Given the description of an element on the screen output the (x, y) to click on. 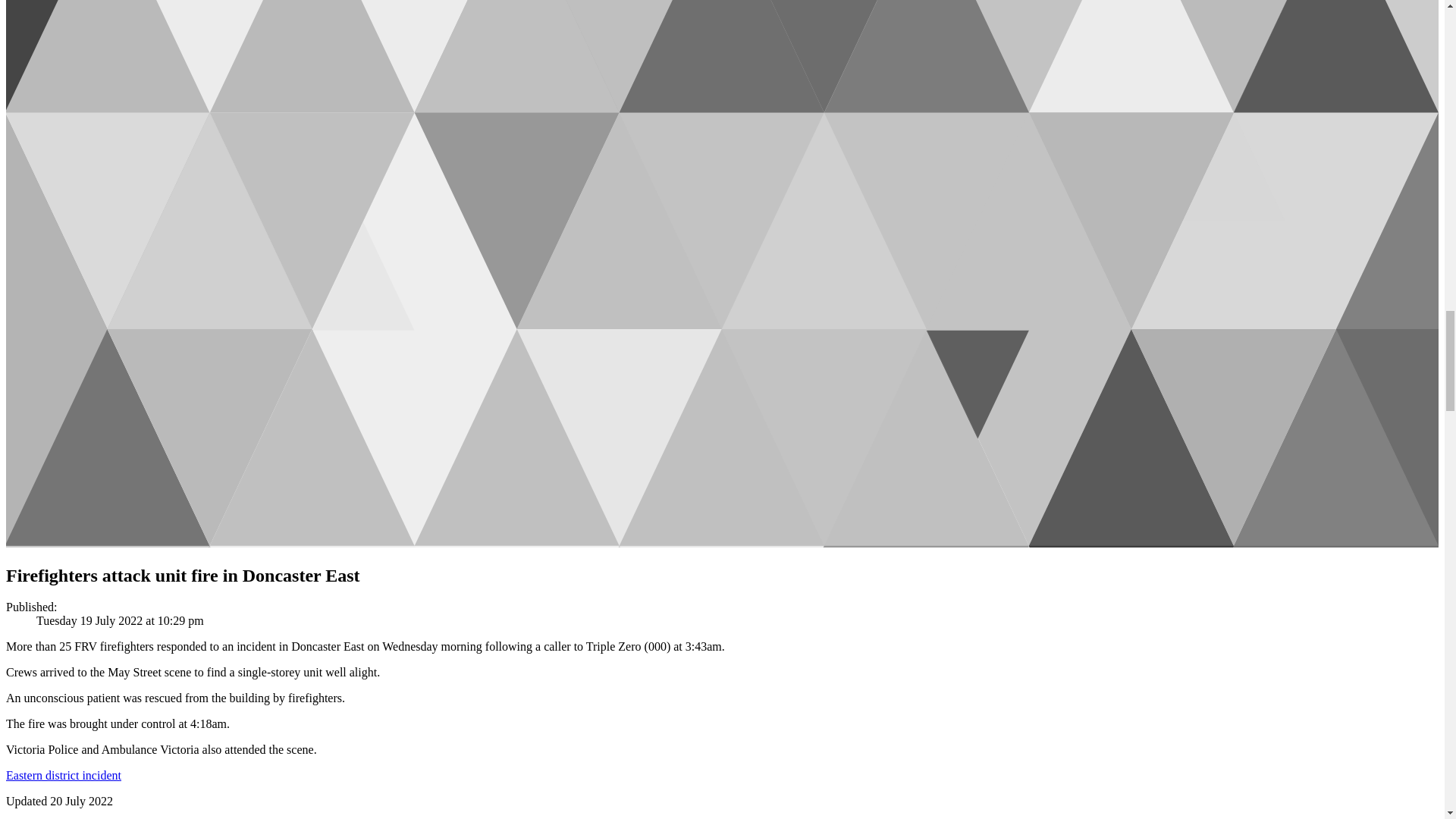
Eastern district incident (62, 775)
